Given the description of an element on the screen output the (x, y) to click on. 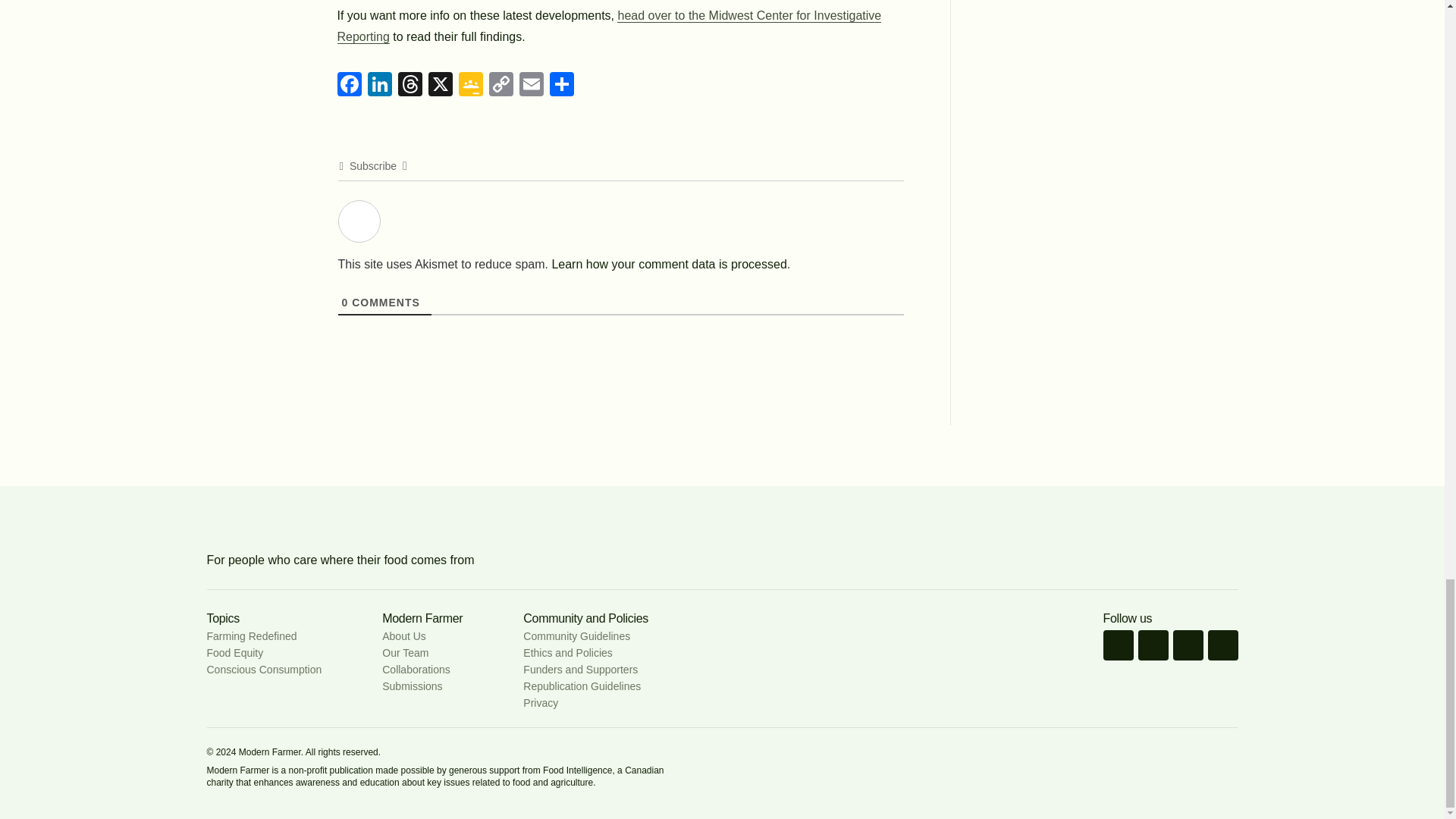
Copy Link (499, 84)
Threads (409, 84)
Threads (409, 84)
Facebook (350, 84)
Facebook (350, 84)
X (439, 84)
LinkedIn (379, 84)
Email (530, 84)
LinkedIn (379, 84)
X (439, 84)
